Given the description of an element on the screen output the (x, y) to click on. 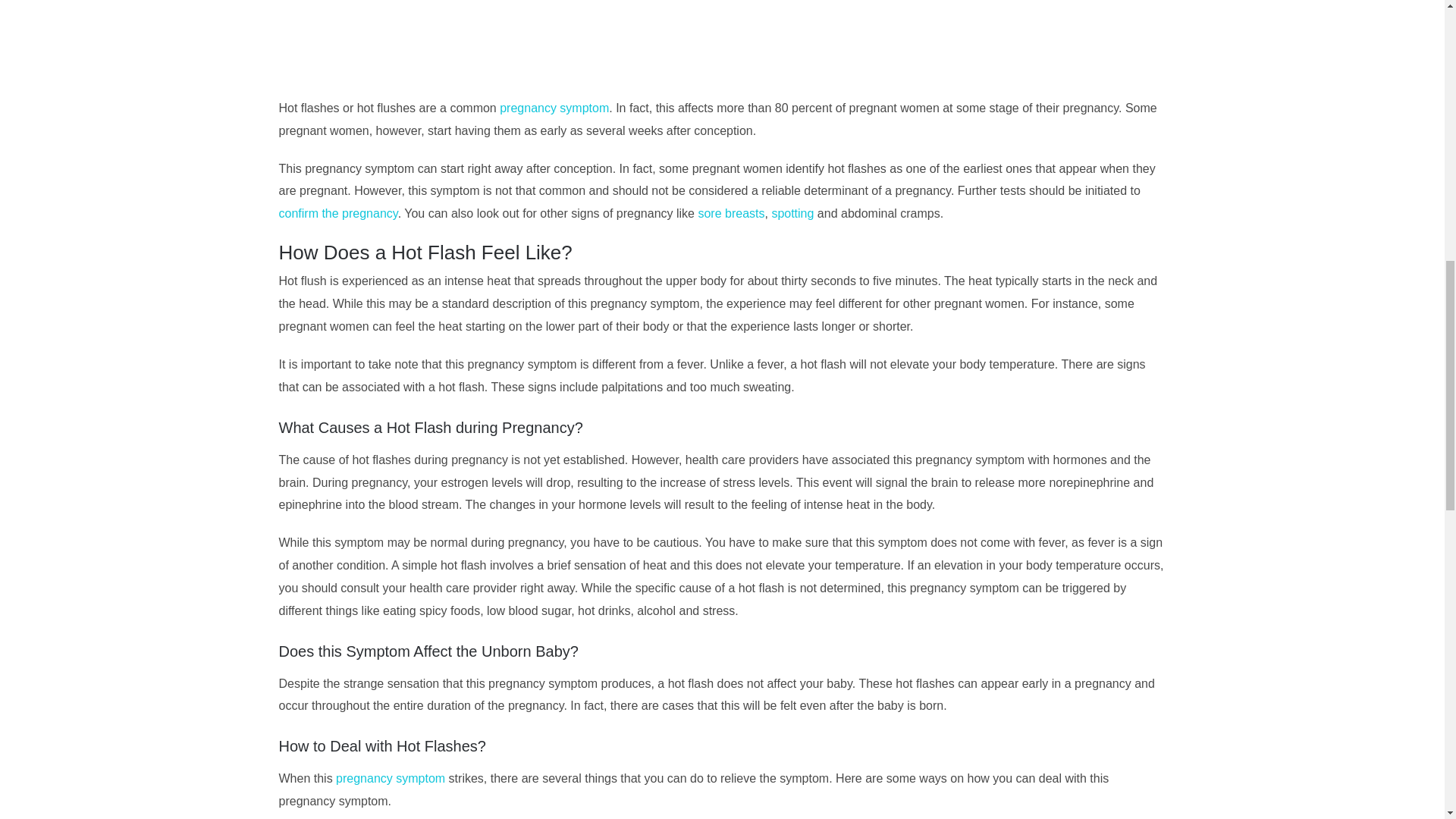
pregnancy symptom (553, 107)
pregnancy symptom (390, 778)
spotting (792, 213)
confirm the pregnancy (338, 213)
sore breasts (730, 213)
